Given the description of an element on the screen output the (x, y) to click on. 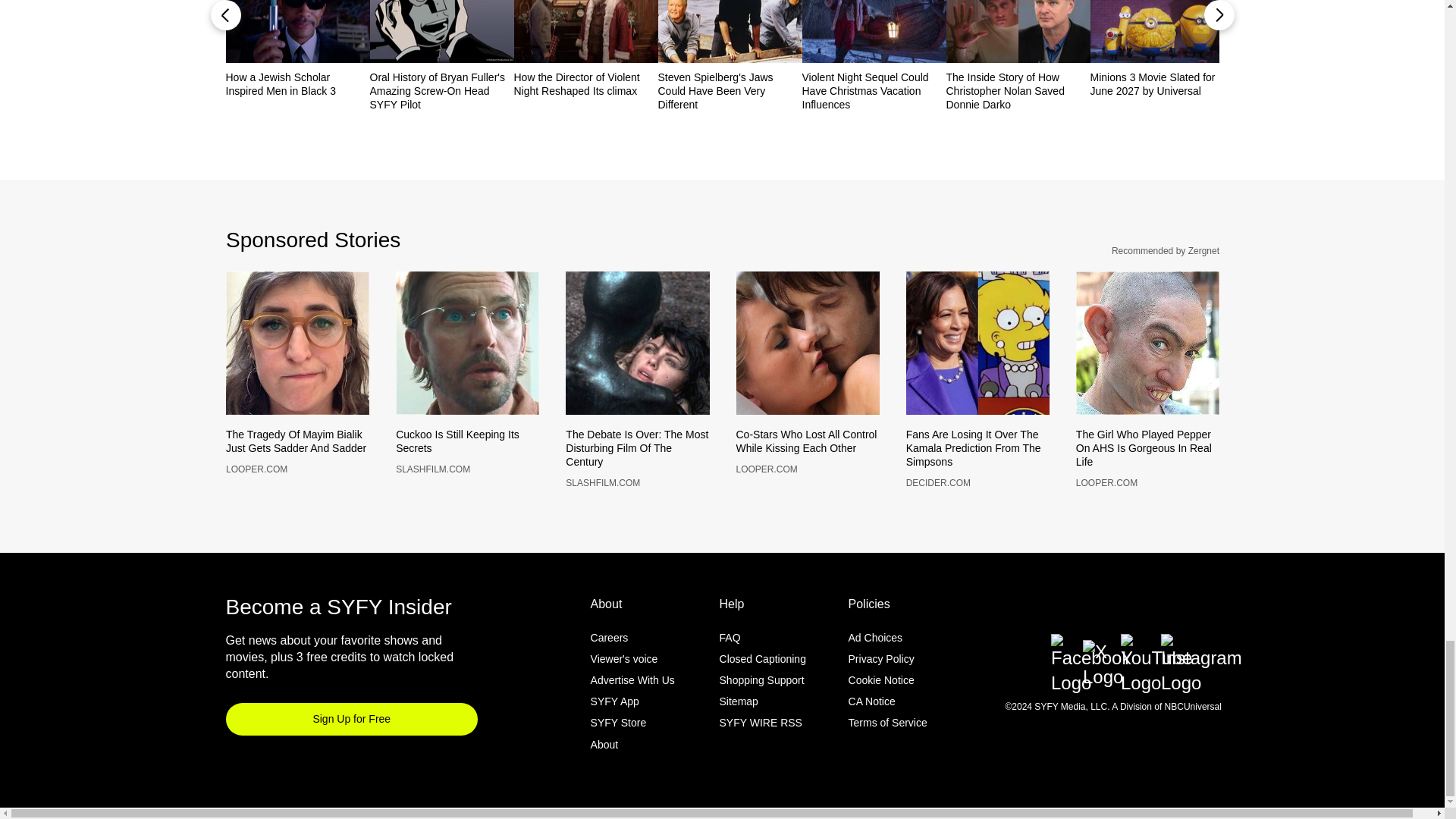
How a Jewish Scholar Inspired Men in Black 3 (297, 83)
Advertise With Us (633, 705)
How the Director of Violent Night Reshaped Its climax (585, 83)
